Given the description of an element on the screen output the (x, y) to click on. 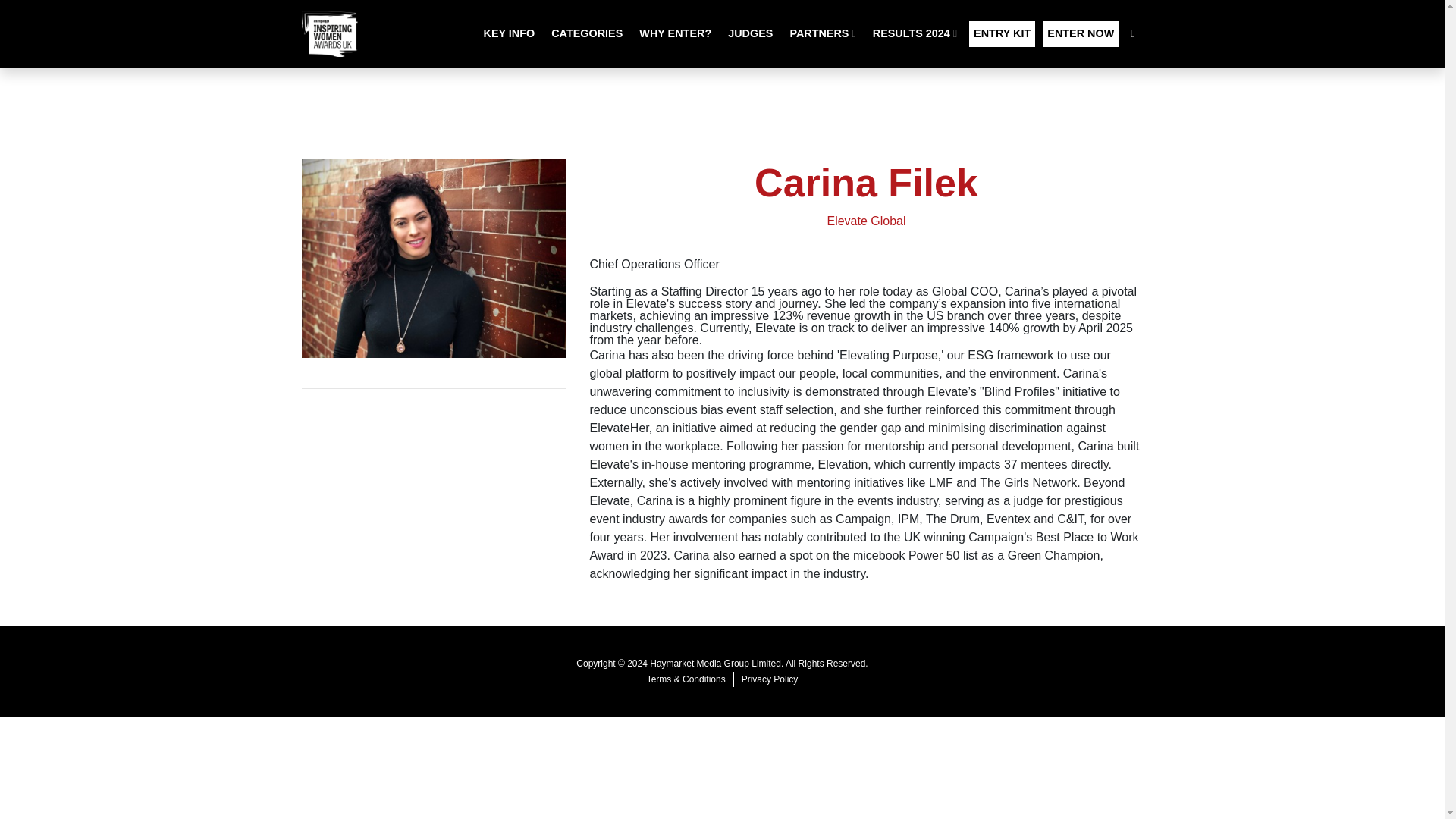
ENTRY KIT (1002, 33)
RESULTS 2024 (913, 33)
PARTNERS (822, 33)
CATEGORIES (587, 33)
CATEGORIES (587, 33)
ENTRY KIT (1002, 33)
ENTER NOW (1080, 33)
JUDGES (750, 33)
JUDGES (750, 33)
KEY INFO (509, 33)
